Given the description of an element on the screen output the (x, y) to click on. 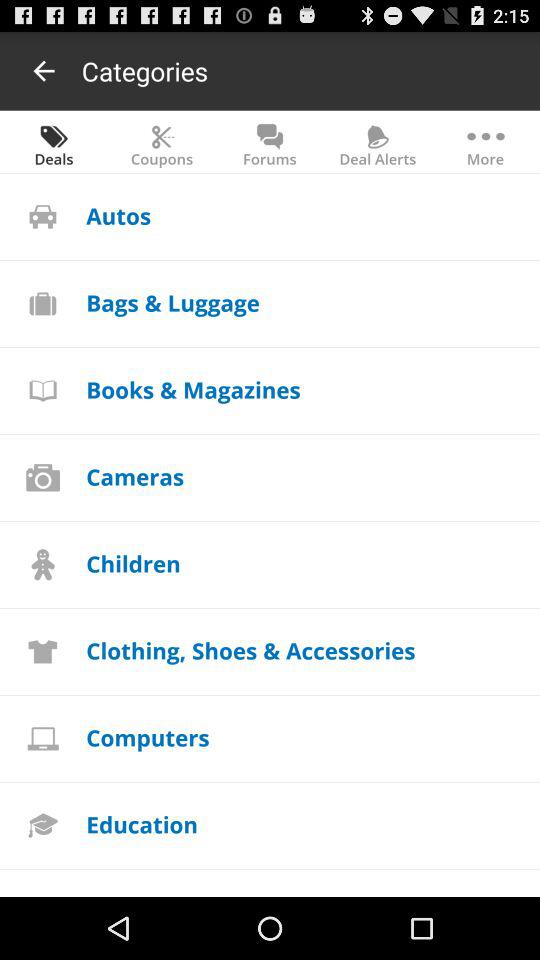
turn on bags & luggage app (172, 302)
